Given the description of an element on the screen output the (x, y) to click on. 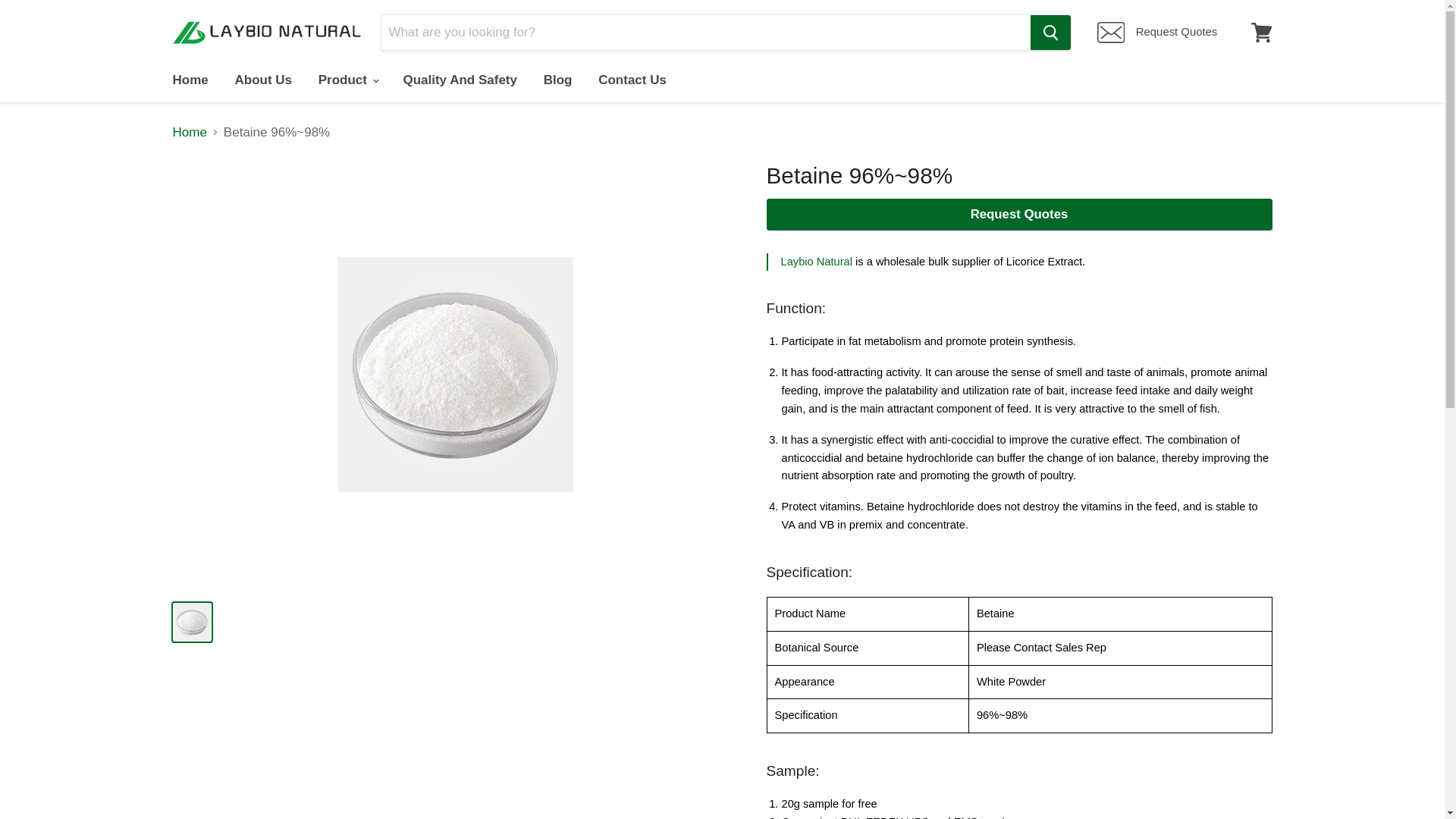
View cart (1261, 32)
Product (347, 79)
Home (189, 79)
About Us (262, 79)
Quality And Safety (459, 79)
Contact Us (632, 79)
Blog (557, 79)
